Given the description of an element on the screen output the (x, y) to click on. 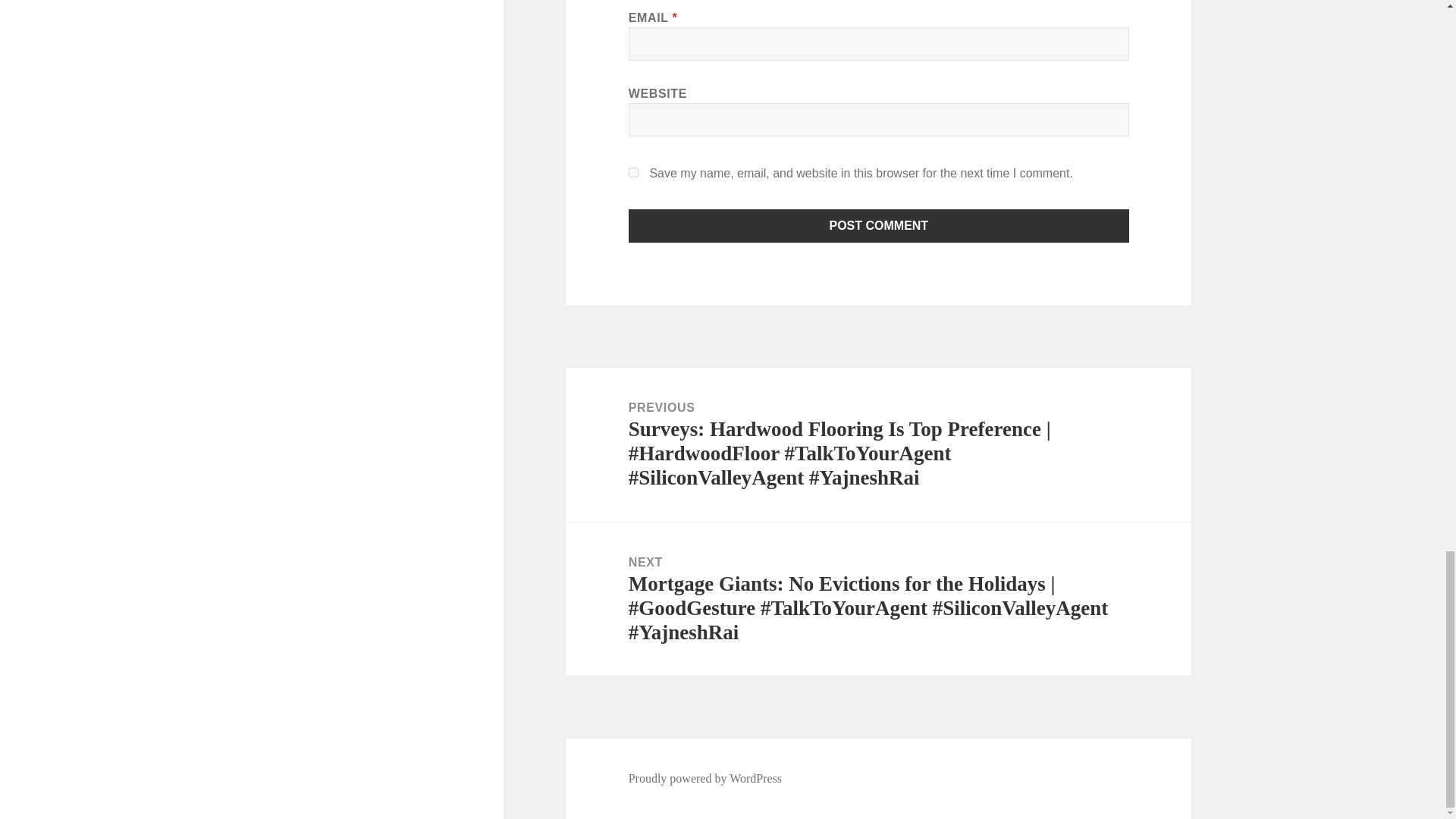
Post Comment (878, 225)
yes (633, 172)
Proudly powered by WordPress (704, 778)
Post Comment (878, 225)
